Given the description of an element on the screen output the (x, y) to click on. 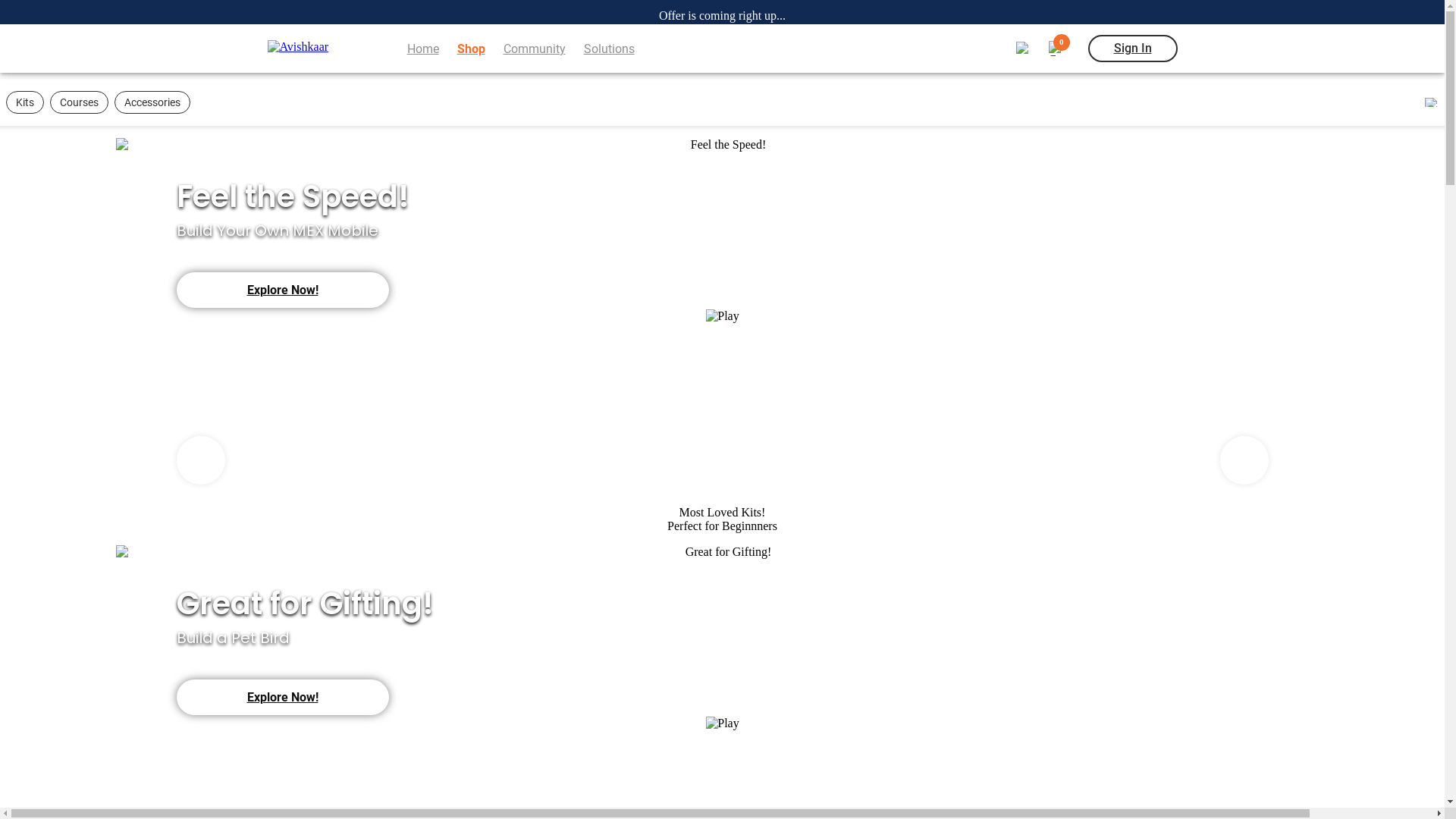
Shop Element type: text (470, 48)
Avishkaar Element type: hover (311, 47)
Sign In Element type: text (1131, 48)
Home Element type: text (422, 48)
Solutions Element type: text (608, 48)
Community Element type: text (534, 48)
Explore Now! Element type: text (281, 289)
Explore Now! Element type: text (281, 697)
Filter Element type: hover (1431, 101)
